Given the description of an element on the screen output the (x, y) to click on. 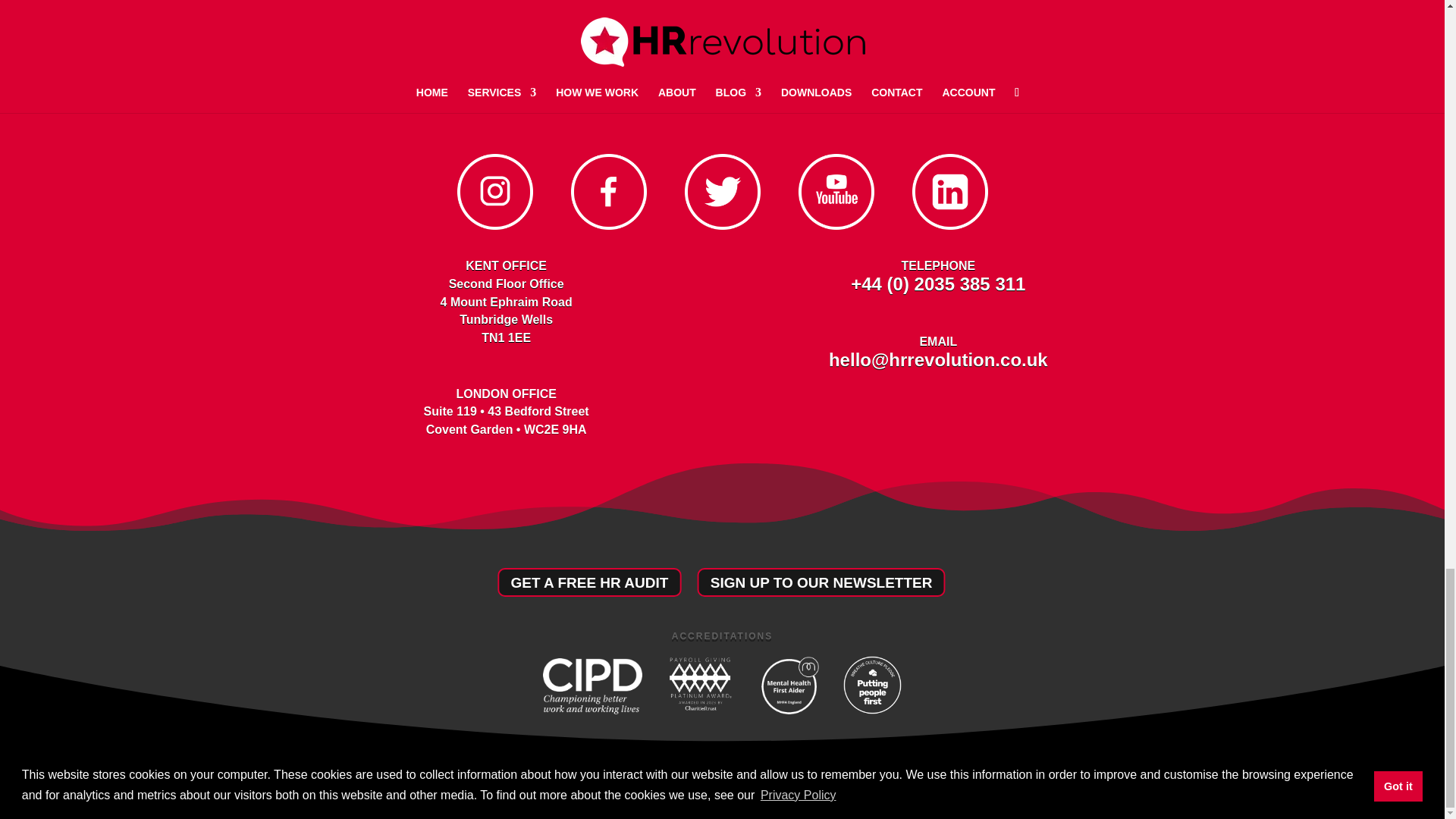
HR Revolution on Facebook (608, 225)
HR Revolution on Twitter (722, 225)
HR Revolution on Youtube (835, 225)
HR Revolution on Instagram (494, 225)
